Given the description of an element on the screen output the (x, y) to click on. 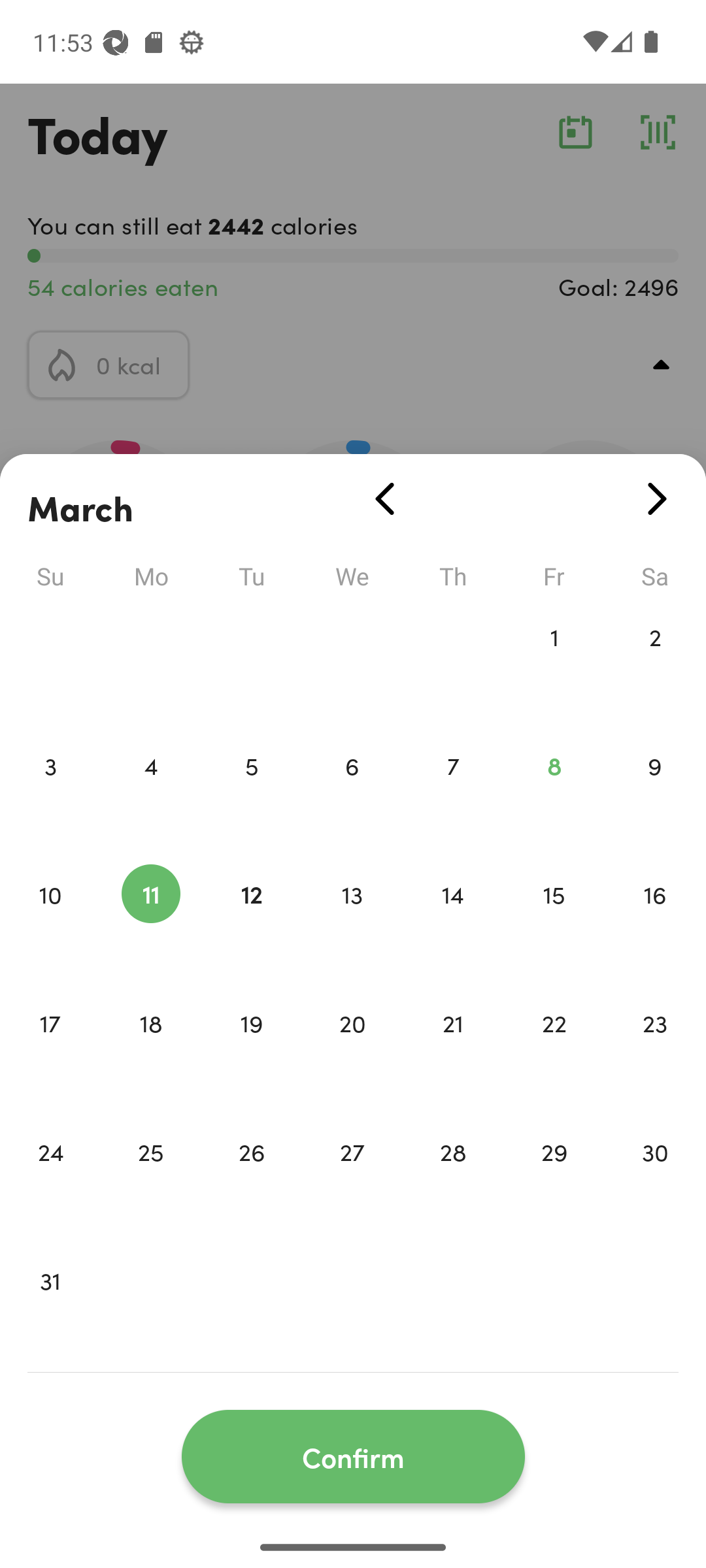
1 (554, 663)
2 (655, 663)
3 (50, 793)
4 (150, 793)
5 (251, 793)
6 (352, 793)
7 (453, 793)
8 (554, 793)
9 (655, 793)
10 (50, 921)
11 (150, 921)
12 (251, 921)
13 (352, 921)
14 (453, 921)
15 (554, 921)
16 (655, 921)
17 (50, 1050)
18 (150, 1050)
19 (251, 1050)
20 (352, 1050)
21 (453, 1050)
22 (554, 1050)
23 (655, 1050)
24 (50, 1178)
25 (150, 1178)
26 (251, 1178)
27 (352, 1178)
28 (453, 1178)
29 (554, 1178)
30 (655, 1178)
31 (50, 1307)
Confirm (353, 1456)
